Given the description of an element on the screen output the (x, y) to click on. 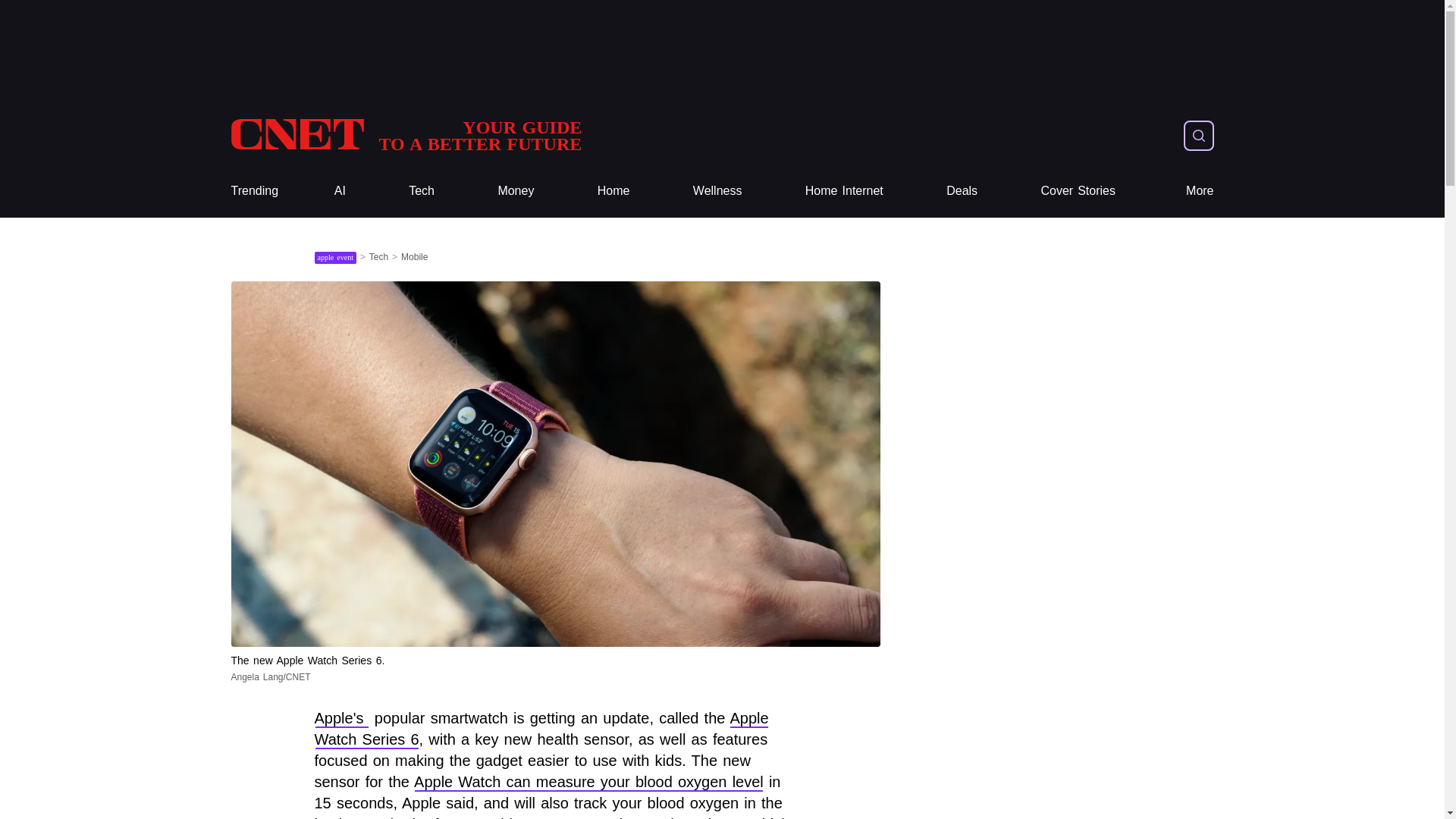
Tech (421, 190)
Home Internet (844, 190)
Wellness (717, 190)
Wellness (717, 190)
Money (515, 190)
Cover Stories (405, 135)
CNET (1078, 190)
Trending (405, 135)
Money (254, 190)
